Given the description of an element on the screen output the (x, y) to click on. 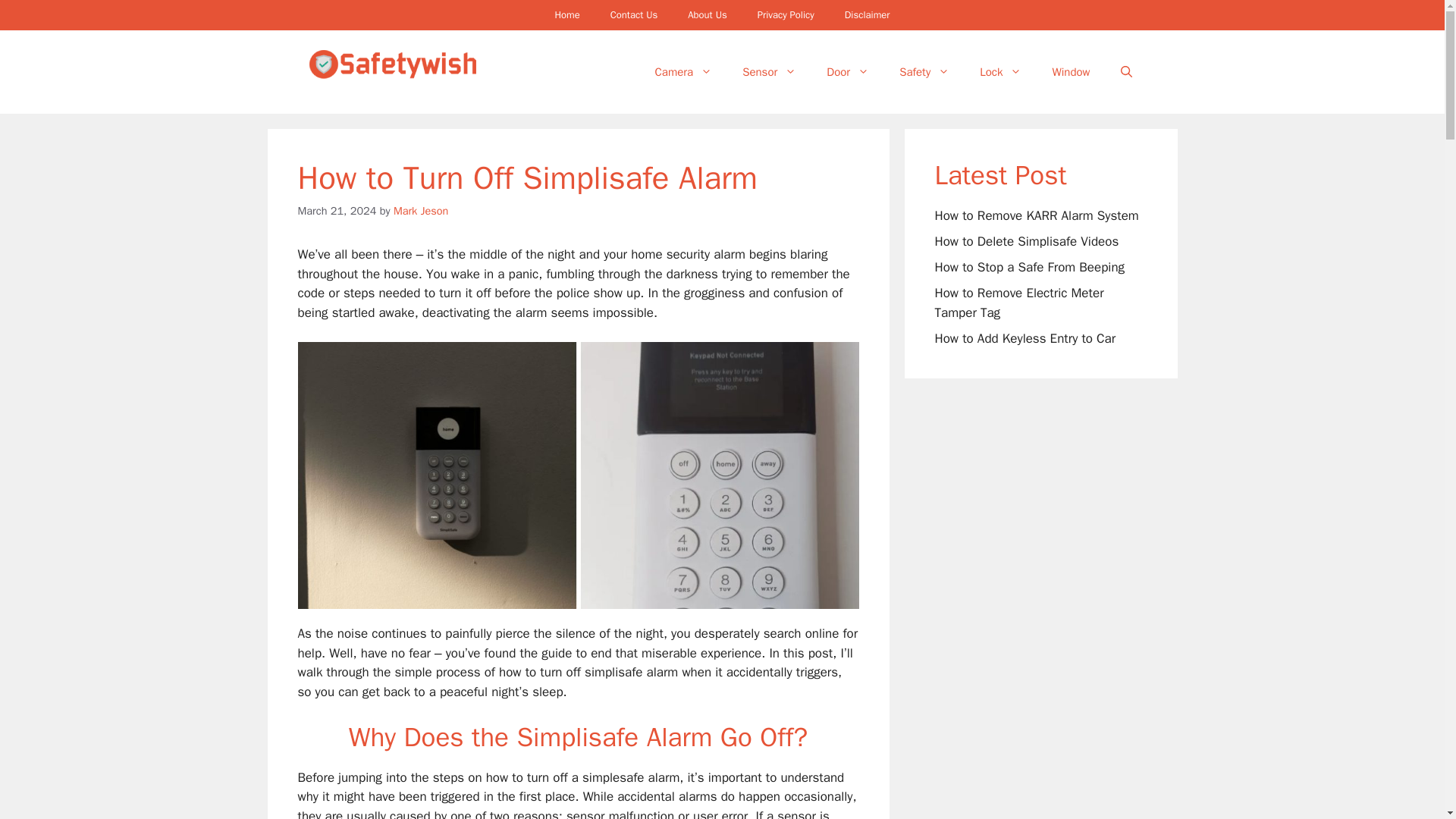
How to Delete Simplisafe Videos (1026, 241)
How to Add Keyless Entry to Car (1024, 338)
Home (566, 15)
Lock (999, 72)
Window (1070, 72)
Camera (684, 72)
How to Remove KARR Alarm System (1036, 215)
How to Stop a Safe From Beeping (1029, 267)
About Us (706, 15)
Sensor (768, 72)
